Given the description of an element on the screen output the (x, y) to click on. 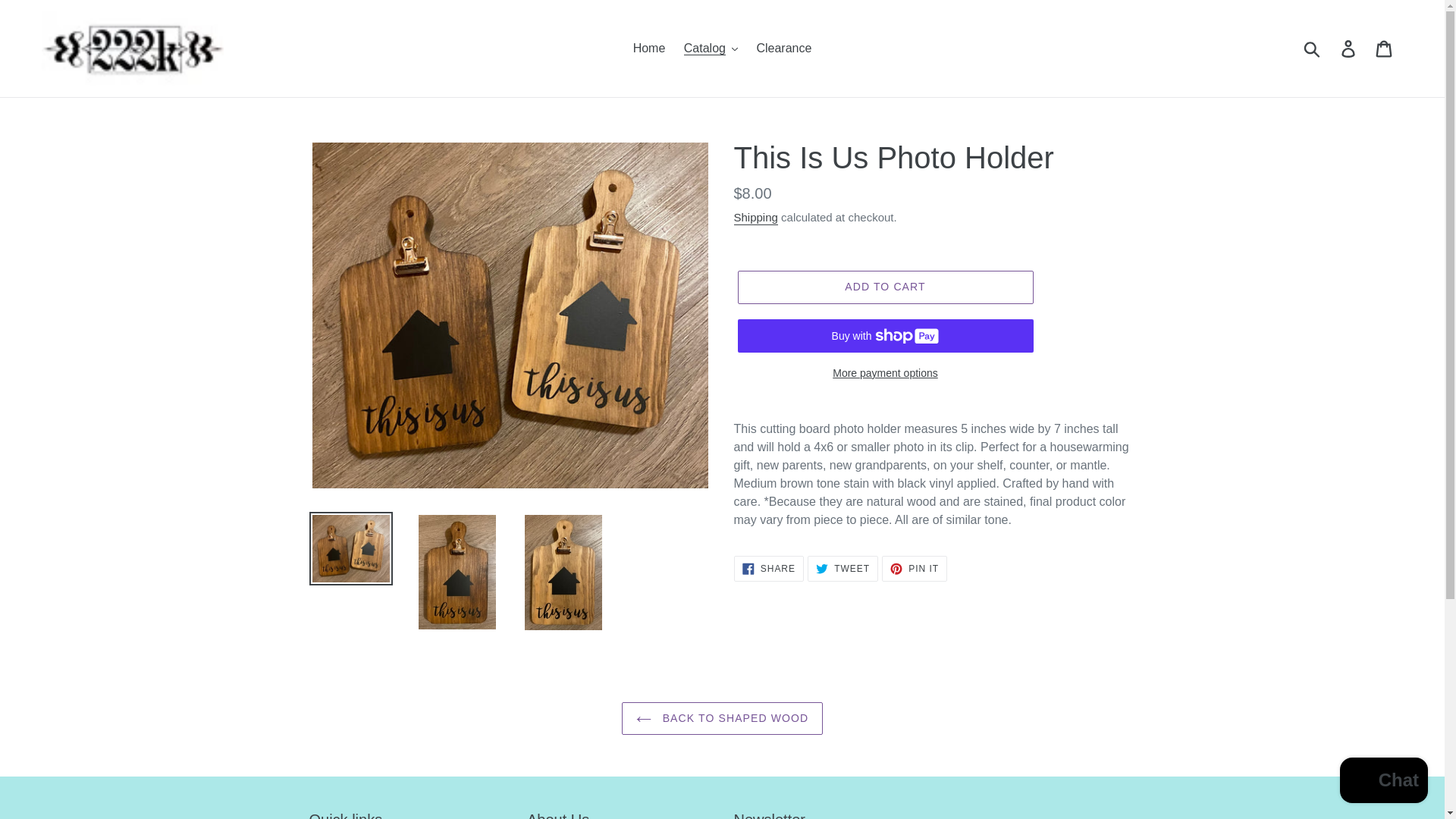
BACK TO SHAPED WOOD (722, 717)
Home (649, 47)
Shopify online store chat (1383, 781)
Submit (1313, 48)
More payment options (884, 373)
Log in (842, 568)
Clearance (768, 568)
Shipping (1349, 48)
